Given the description of an element on the screen output the (x, y) to click on. 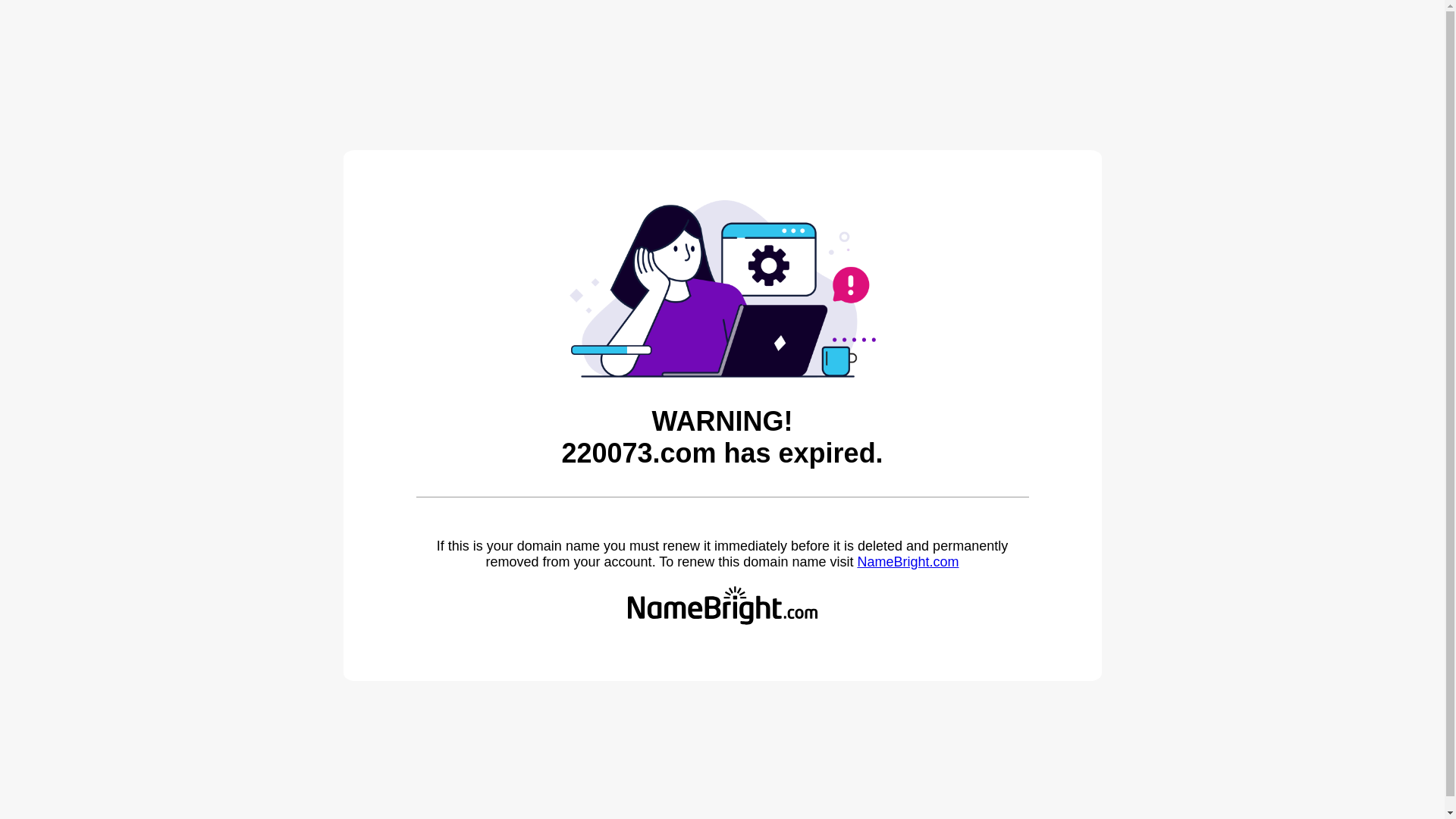
NameBright.com Element type: text (907, 561)
